Given the description of an element on the screen output the (x, y) to click on. 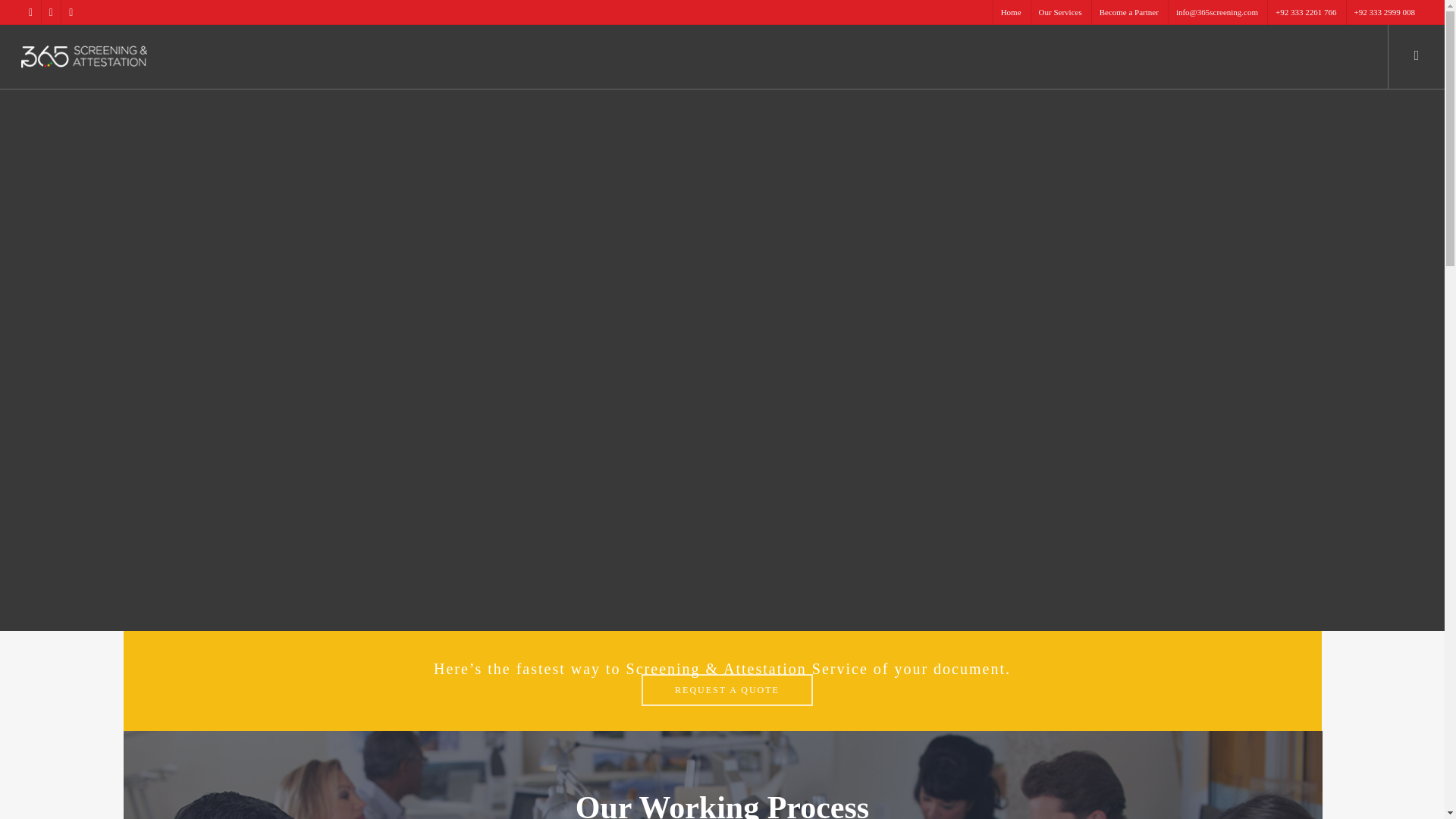
Our Services (1059, 12)
Become a Partner (1128, 12)
REQUEST A QUOTE (727, 689)
Home (1010, 12)
